Given the description of an element on the screen output the (x, y) to click on. 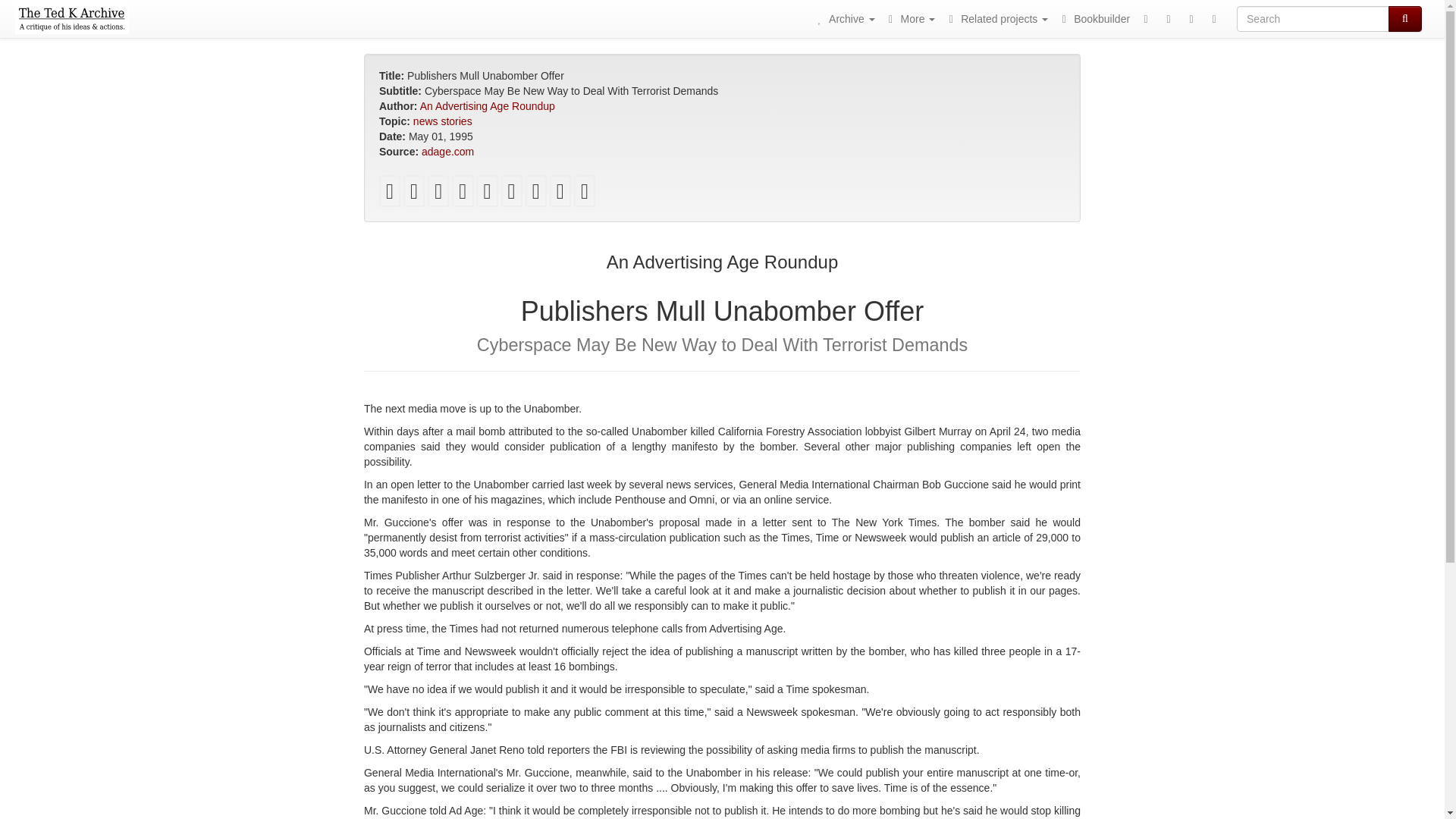
Archive (843, 18)
Related projects (995, 18)
Search (1405, 18)
Bookbuilder (1093, 18)
More (909, 18)
Related projects (995, 18)
texts by authors, title, topic... (843, 18)
Bookbuilder (1093, 18)
about, links... (909, 18)
The Ted K Archive (71, 18)
